Given the description of an element on the screen output the (x, y) to click on. 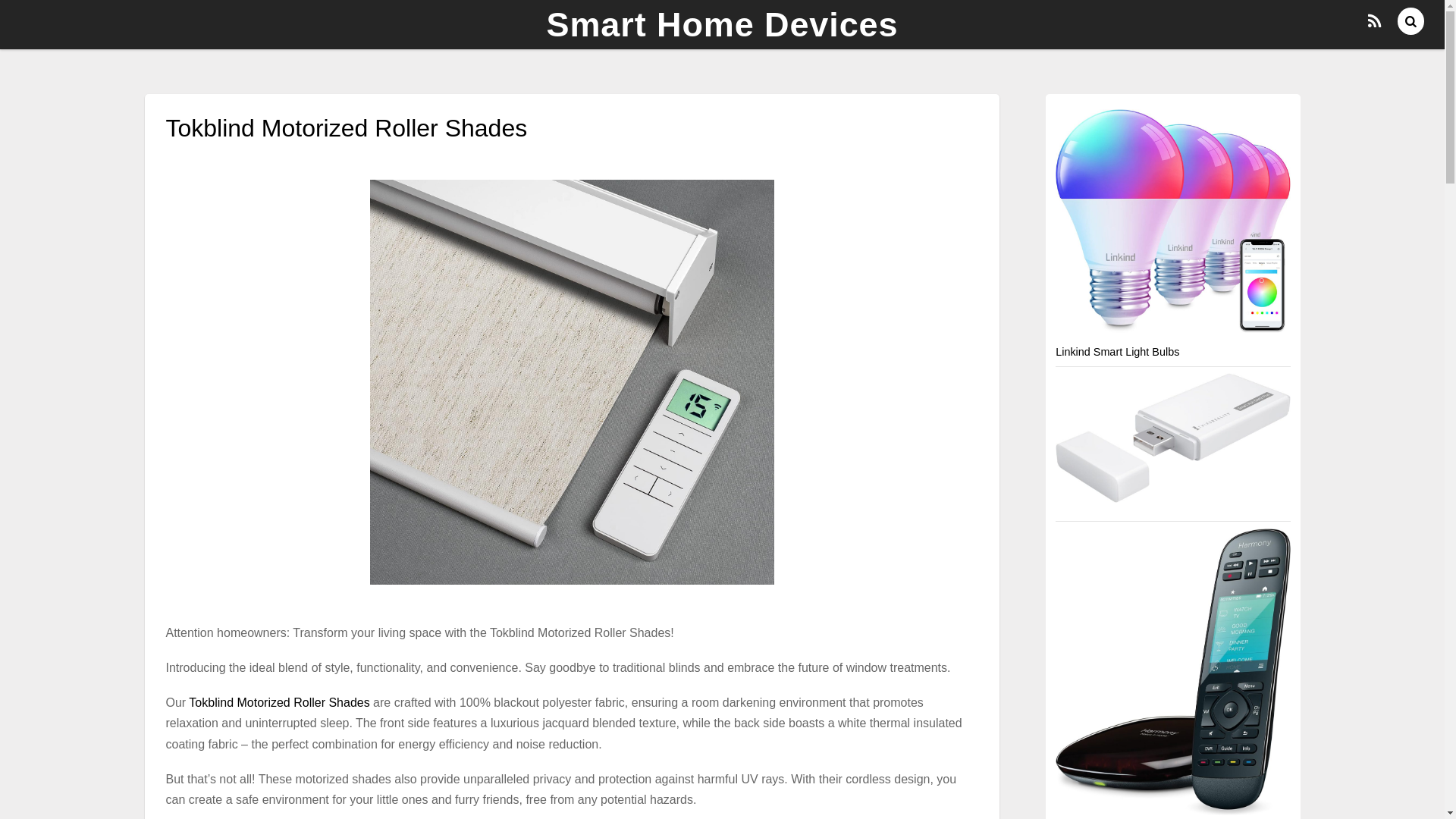
Smart Home Devices (722, 24)
Smart Home Devices (722, 24)
Tokblind Motorized Roller Shades (279, 702)
Linkind Smart Light Bulbs (1117, 351)
